Given the description of an element on the screen output the (x, y) to click on. 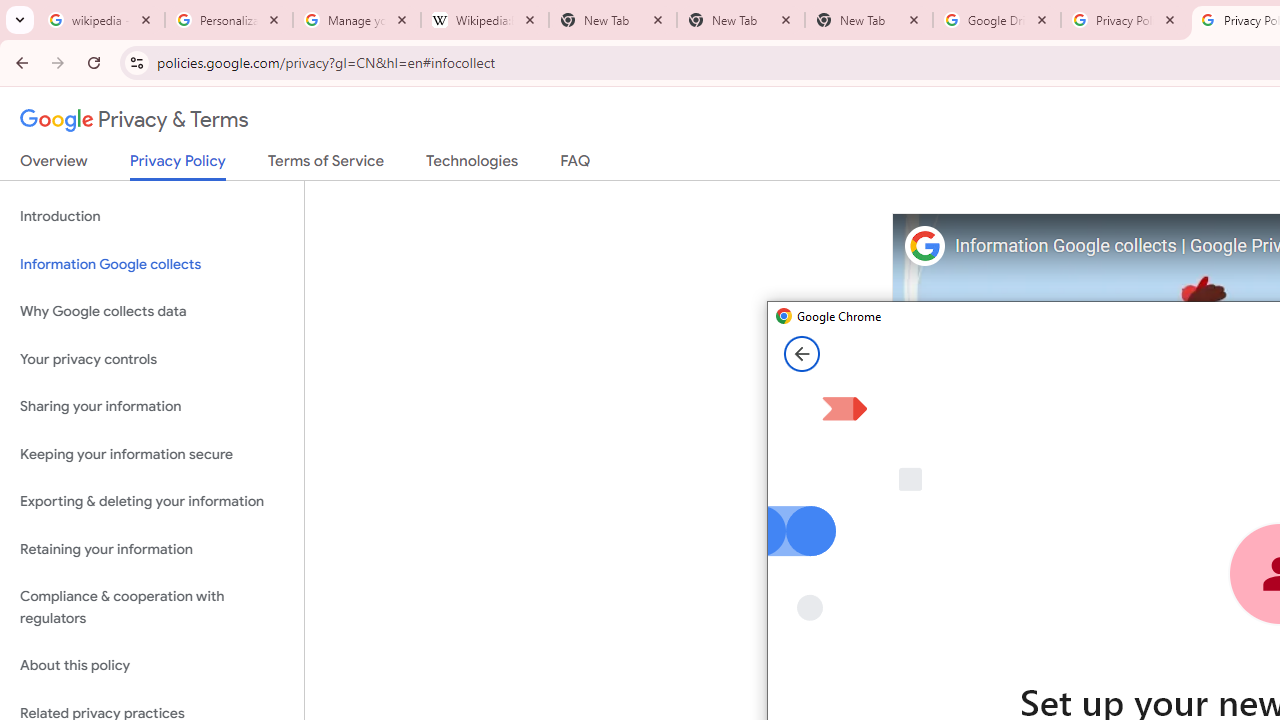
Google Drive: Sign-in (997, 20)
Privacy Policy (177, 166)
Photo image of Google (924, 246)
